Given the description of an element on the screen output the (x, y) to click on. 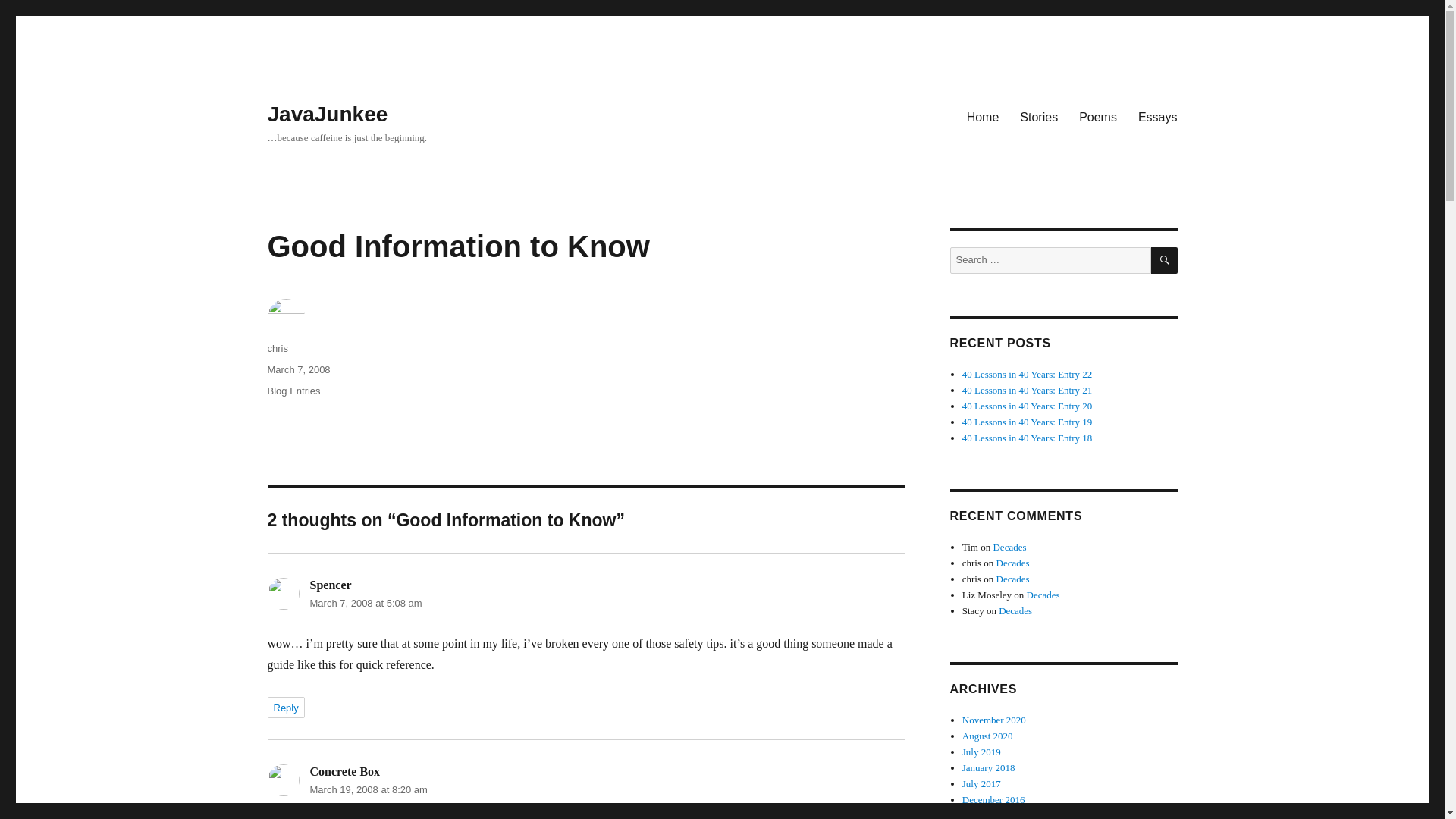
40 Lessons in 40 Years: Entry 21 (1027, 389)
Poems (1097, 116)
Blog Entries (293, 390)
January 2018 (988, 767)
SEARCH (1164, 260)
March 7, 2008 (298, 369)
July 2017 (981, 783)
Essays (1157, 116)
July 2019 (981, 751)
40 Lessons in 40 Years: Entry 22 (1027, 374)
